Given the description of an element on the screen output the (x, y) to click on. 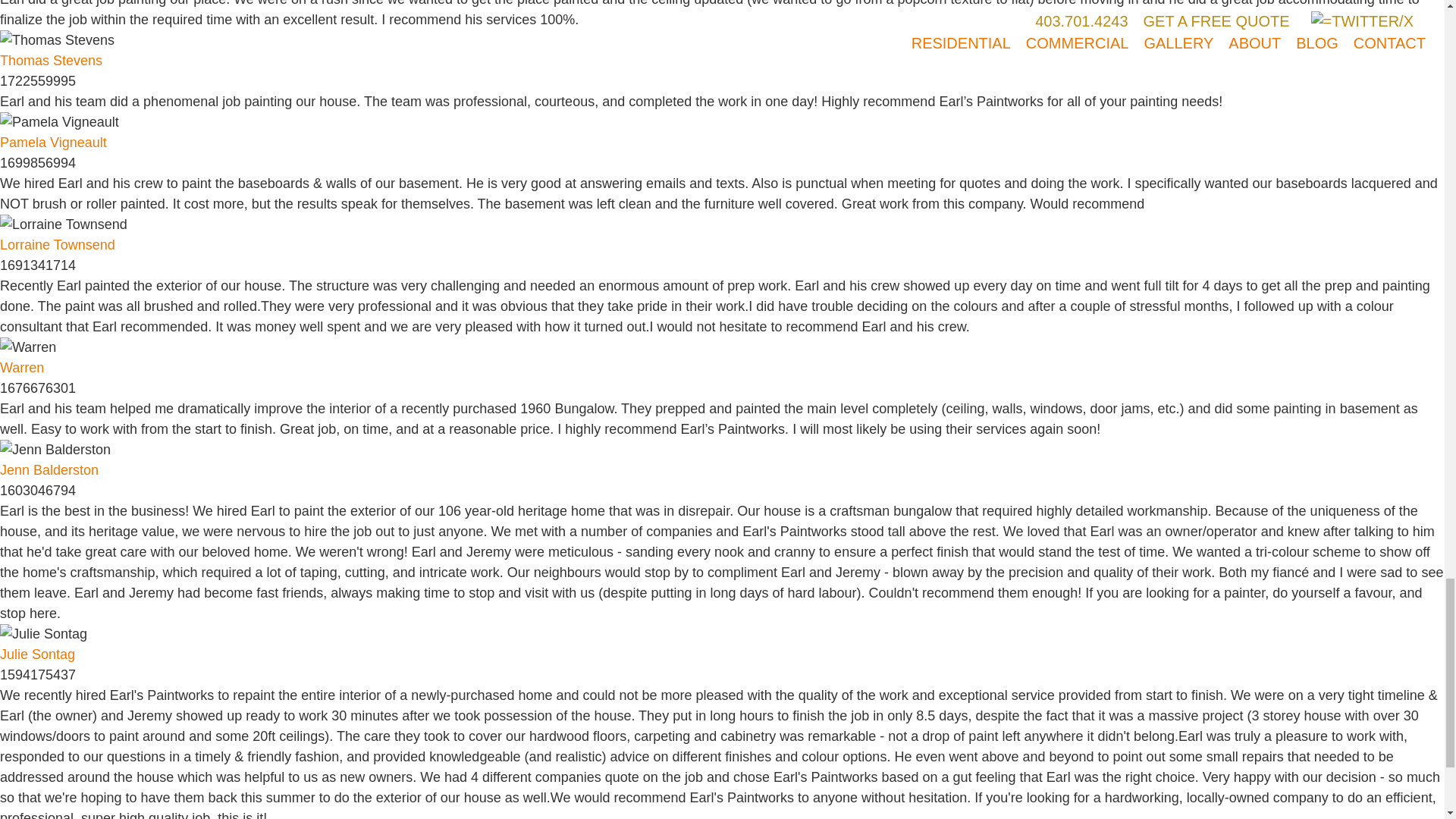
Thomas Stevens (57, 40)
Warren (28, 347)
Lorraine Townsend (64, 224)
Warren (21, 368)
Pamela Vigneault (59, 122)
Thomas Stevens (50, 61)
Jenn Balderston (49, 470)
Lorraine Townsend (57, 245)
Pamela Vigneault (53, 143)
Jenn Balderston (55, 449)
